Given the description of an element on the screen output the (x, y) to click on. 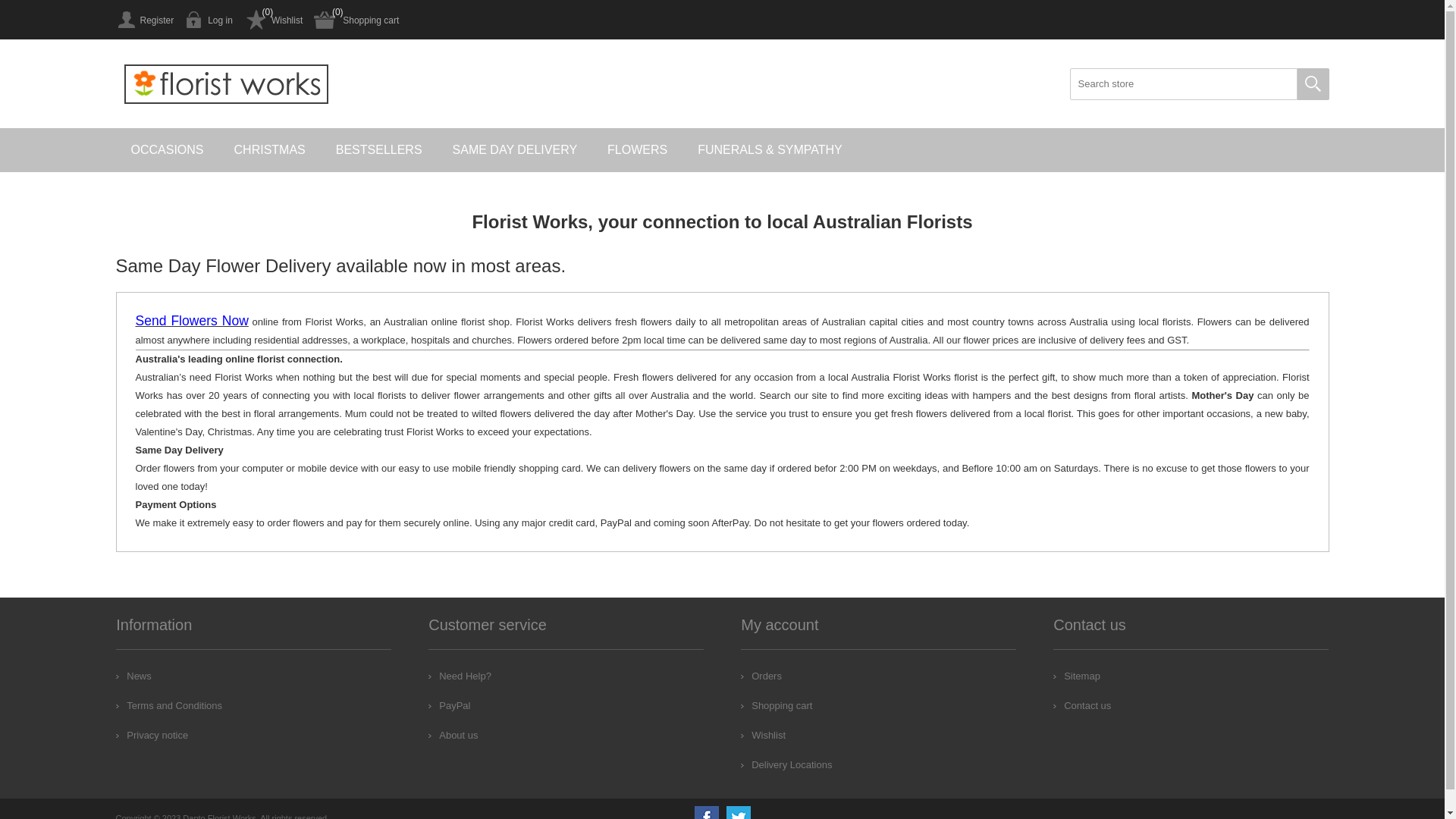
Sitemap Element type: text (1076, 675)
SAME DAY DELIVERY Element type: text (515, 150)
Shopping cart Element type: text (776, 705)
Privacy notice Element type: text (152, 734)
Contact us Element type: text (1081, 705)
Orders Element type: text (760, 675)
About us Element type: text (452, 734)
FUNERALS & SYMPATHY Element type: text (769, 150)
News Element type: text (133, 675)
Delivery Locations Element type: text (785, 764)
CHRISTMAS Element type: text (269, 150)
Shopping cart Element type: text (355, 19)
Register Element type: text (144, 19)
Terms and Conditions Element type: text (169, 705)
Need Help? Element type: text (459, 675)
FLOWERS Element type: text (637, 150)
Search Element type: text (1312, 84)
OCCASIONS Element type: text (166, 150)
PayPal Element type: text (449, 705)
Wishlist Element type: text (762, 734)
Log in Element type: text (208, 19)
BESTSELLERS Element type: text (378, 150)
Wishlist Element type: text (273, 19)
Send Flowers Now Element type: text (190, 321)
